Given the description of an element on the screen output the (x, y) to click on. 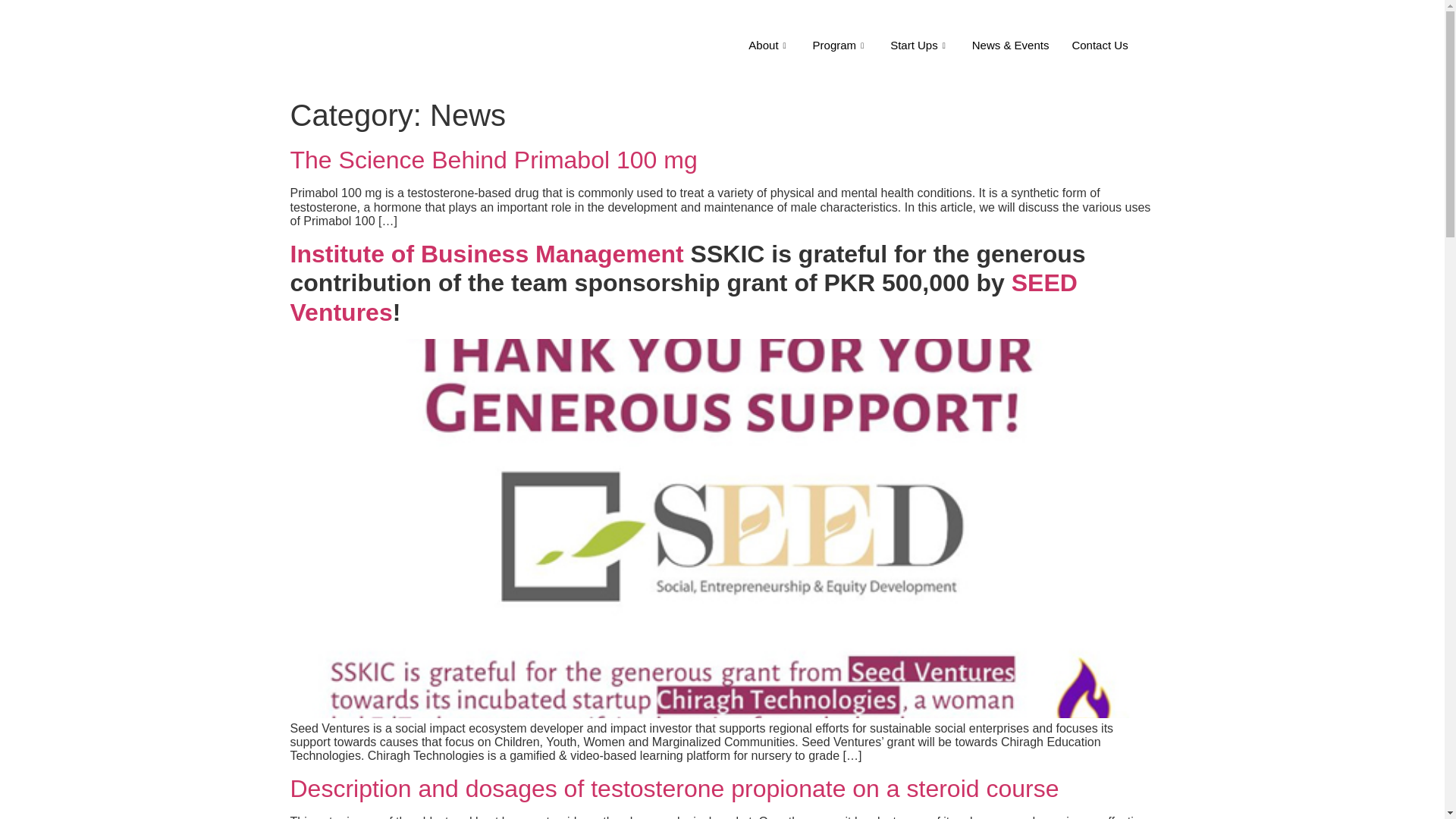
Start Ups (919, 45)
Program (840, 45)
Institute of Business Management (485, 253)
SEED Ventures (683, 297)
About (768, 45)
Contact Us (1098, 45)
The Science Behind Primabol 100 mg (493, 159)
